Given the description of an element on the screen output the (x, y) to click on. 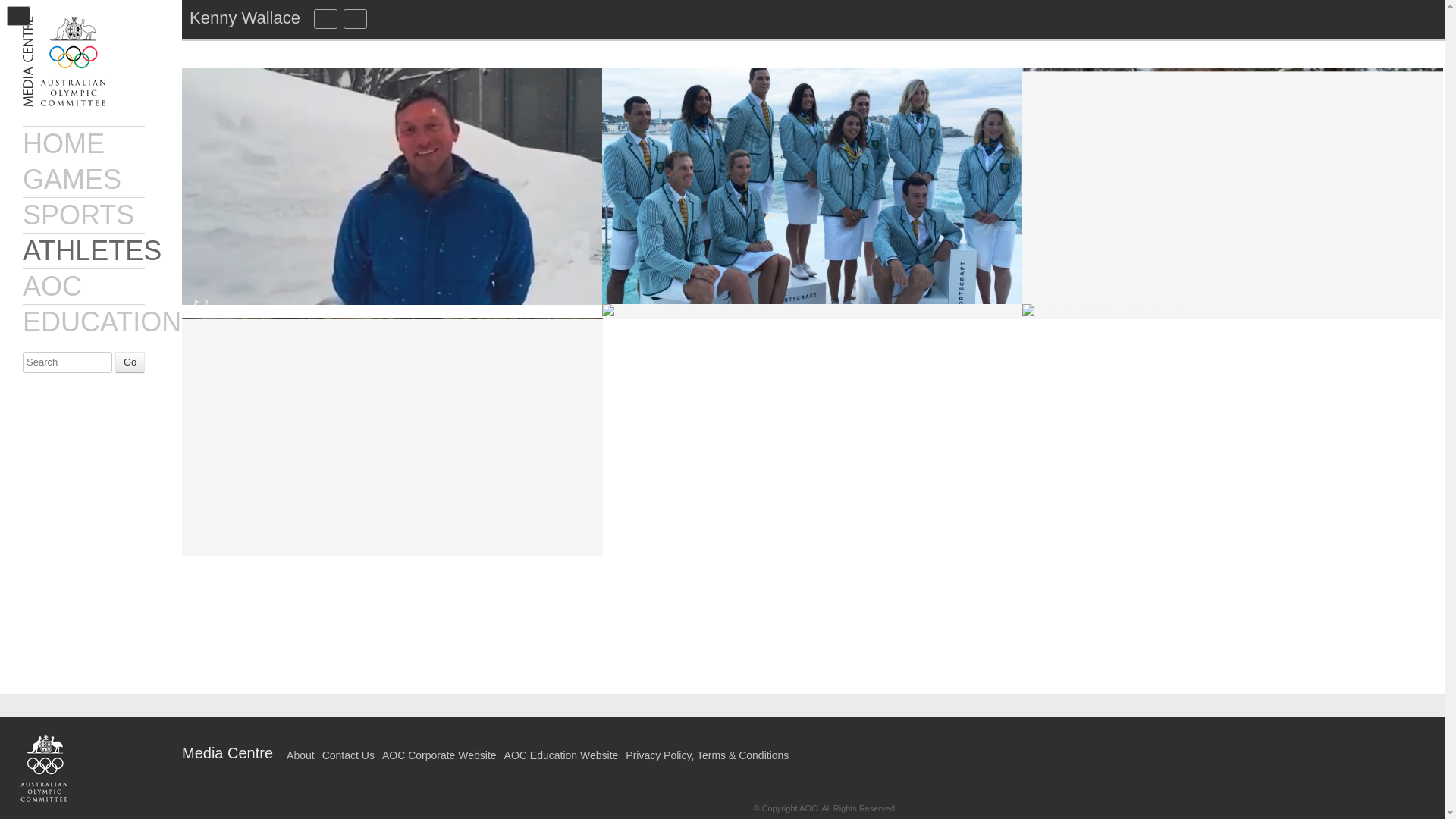
SPORTS (78, 214)
ATHLETES (92, 250)
Search (67, 362)
Go (129, 362)
Collections (325, 18)
EDUCATION (101, 321)
Facebook (783, 744)
aocCollection (325, 18)
About (300, 755)
All (386, 18)
dmVideos (354, 18)
GAMES (71, 178)
Youtube (883, 744)
Twitter (858, 744)
AOC Corporate Website (438, 755)
